Given the description of an element on the screen output the (x, y) to click on. 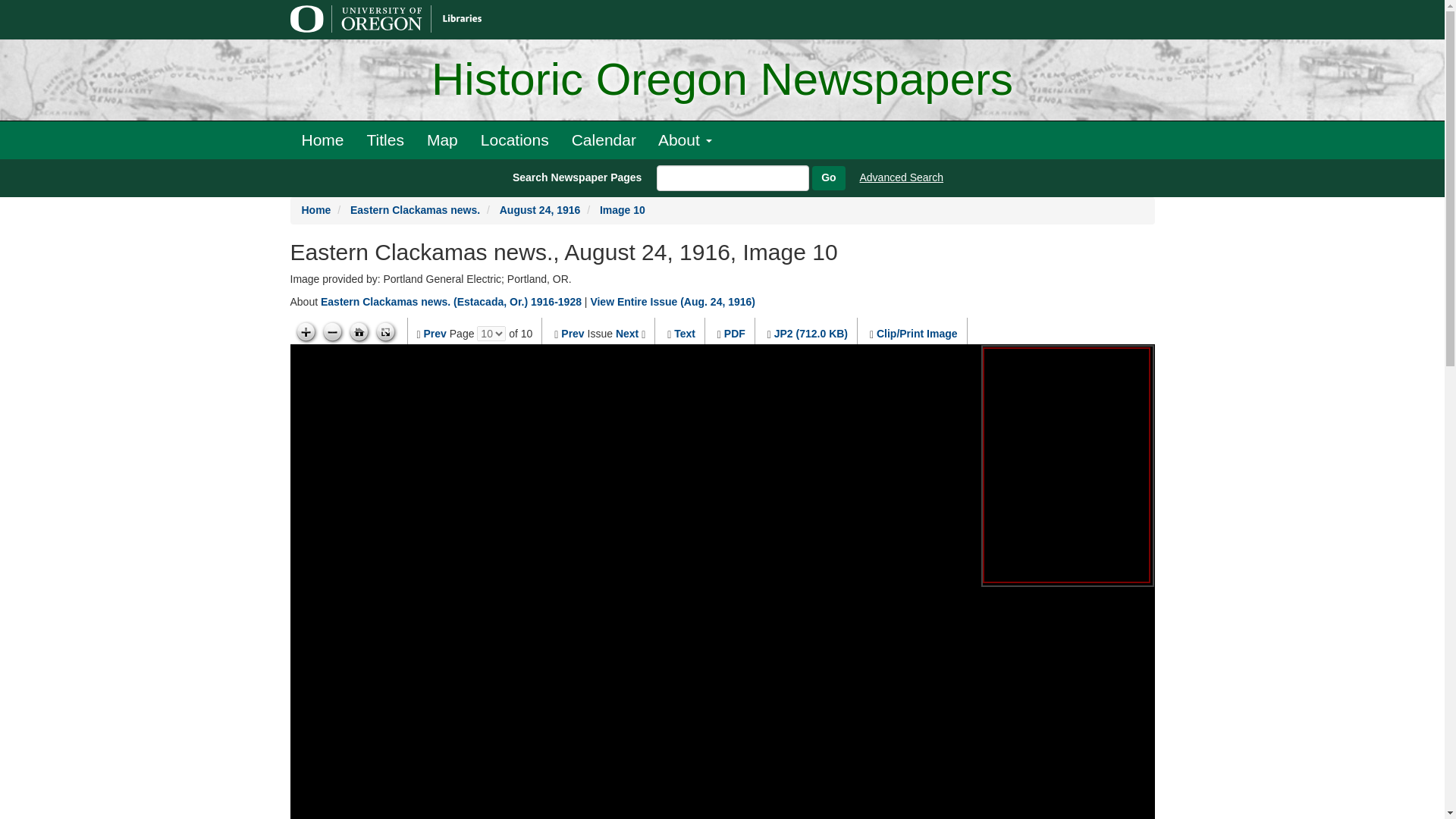
Calendar (603, 139)
Go (828, 178)
Toggle full page (385, 332)
Locations (514, 139)
Prev (434, 333)
Titles (384, 139)
Eastern Clackamas news. (415, 209)
Home (316, 209)
Map (441, 139)
Advanced Search (901, 177)
PDF (734, 333)
Zoom in (305, 332)
About (684, 140)
Prev (571, 333)
Next (627, 333)
